Given the description of an element on the screen output the (x, y) to click on. 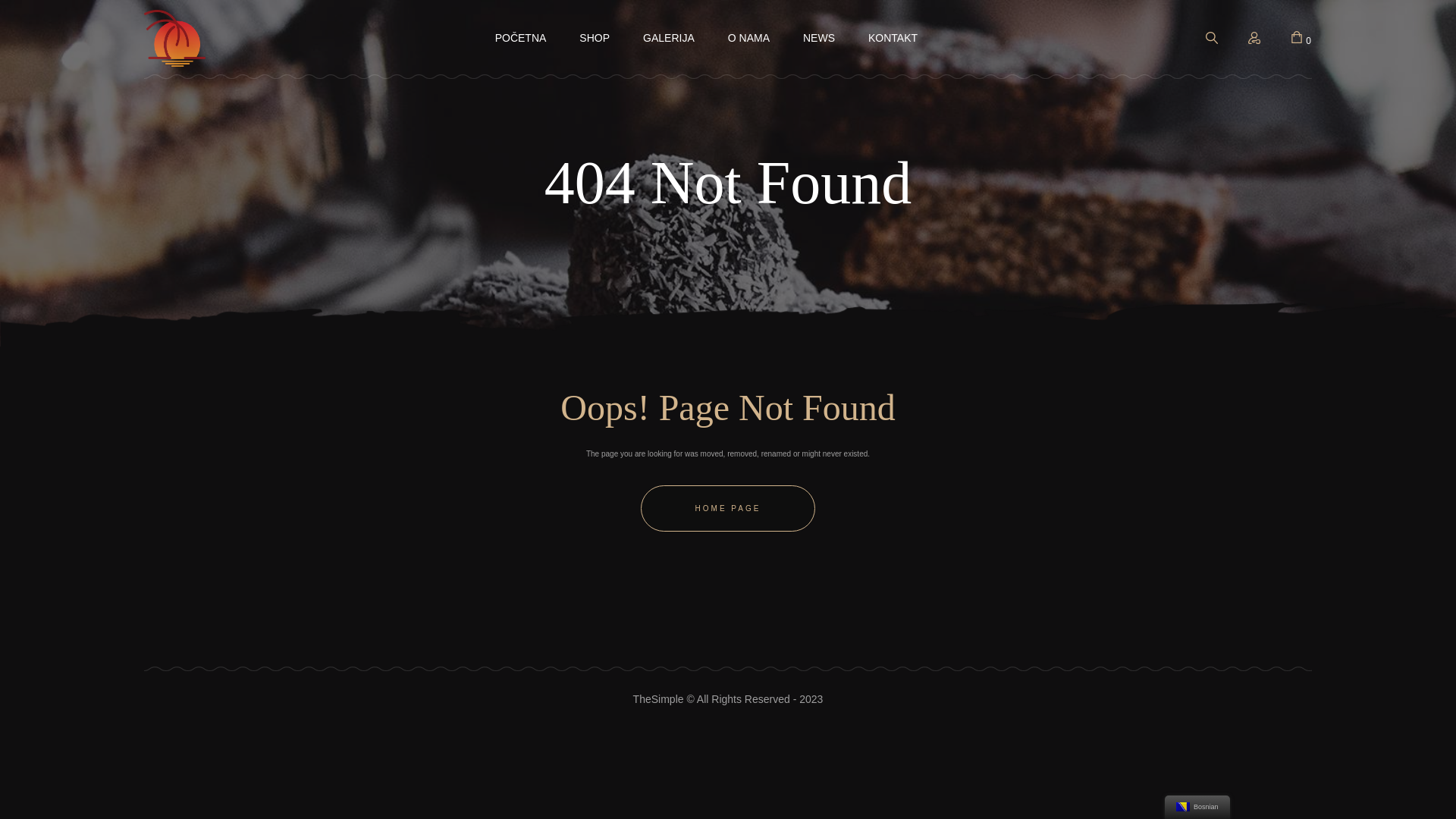
O NAMA Element type: text (748, 37)
HOME PAGE Element type: text (727, 508)
KONTAKT Element type: text (892, 37)
GALERIJA Element type: text (668, 37)
Bosnian Element type: hover (1182, 806)
SHOP Element type: text (594, 37)
NEWS Element type: text (818, 37)
0 Element type: text (1300, 37)
